Given the description of an element on the screen output the (x, y) to click on. 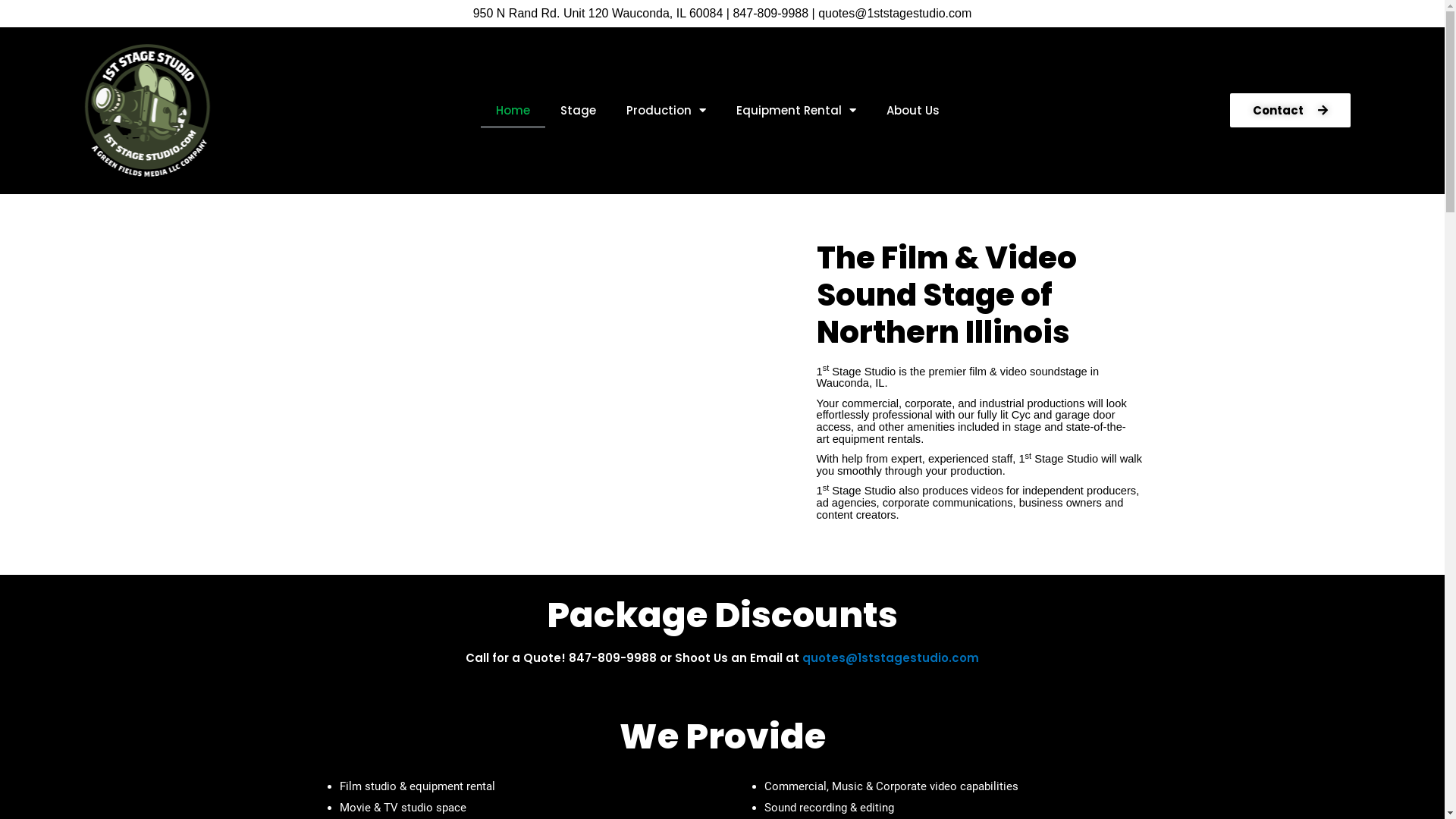
About Us Element type: text (912, 110)
Home Element type: text (512, 110)
Equipment Rental Element type: text (796, 110)
quotes@1ststagestudio.com Element type: text (890, 657)
Contact Element type: text (1290, 110)
Stage Element type: text (578, 110)
Production Element type: text (666, 110)
